Given the description of an element on the screen output the (x, y) to click on. 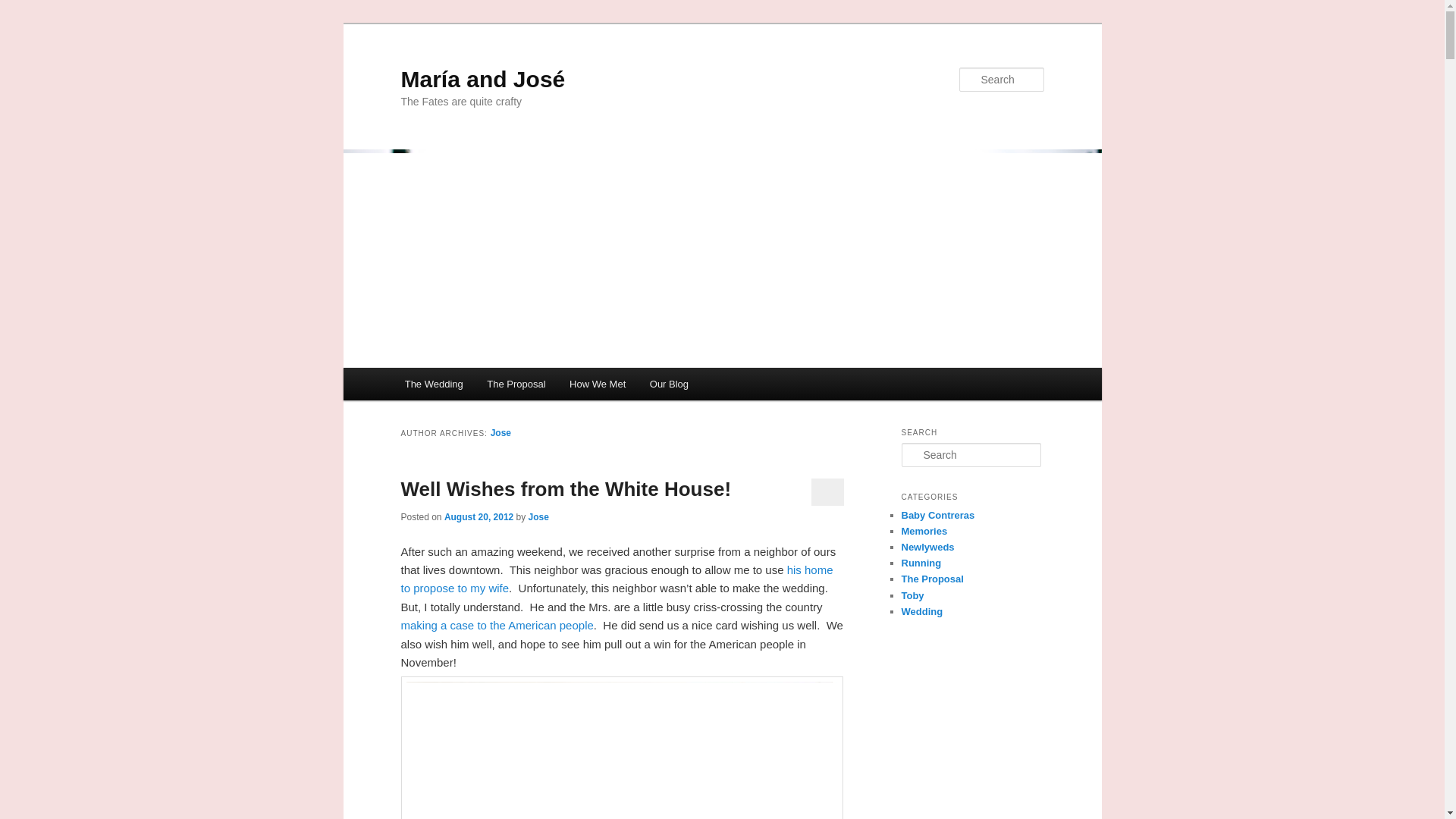
Skip to secondary content (479, 386)
Jose (500, 432)
WhiteHouseCard (621, 747)
Jose (538, 516)
How We Met (597, 383)
Well Wishes from the White House! (565, 488)
The Proposal (616, 578)
The Wedding (434, 383)
10:15 am (478, 516)
making a case to the American people (496, 625)
